Given the description of an element on the screen output the (x, y) to click on. 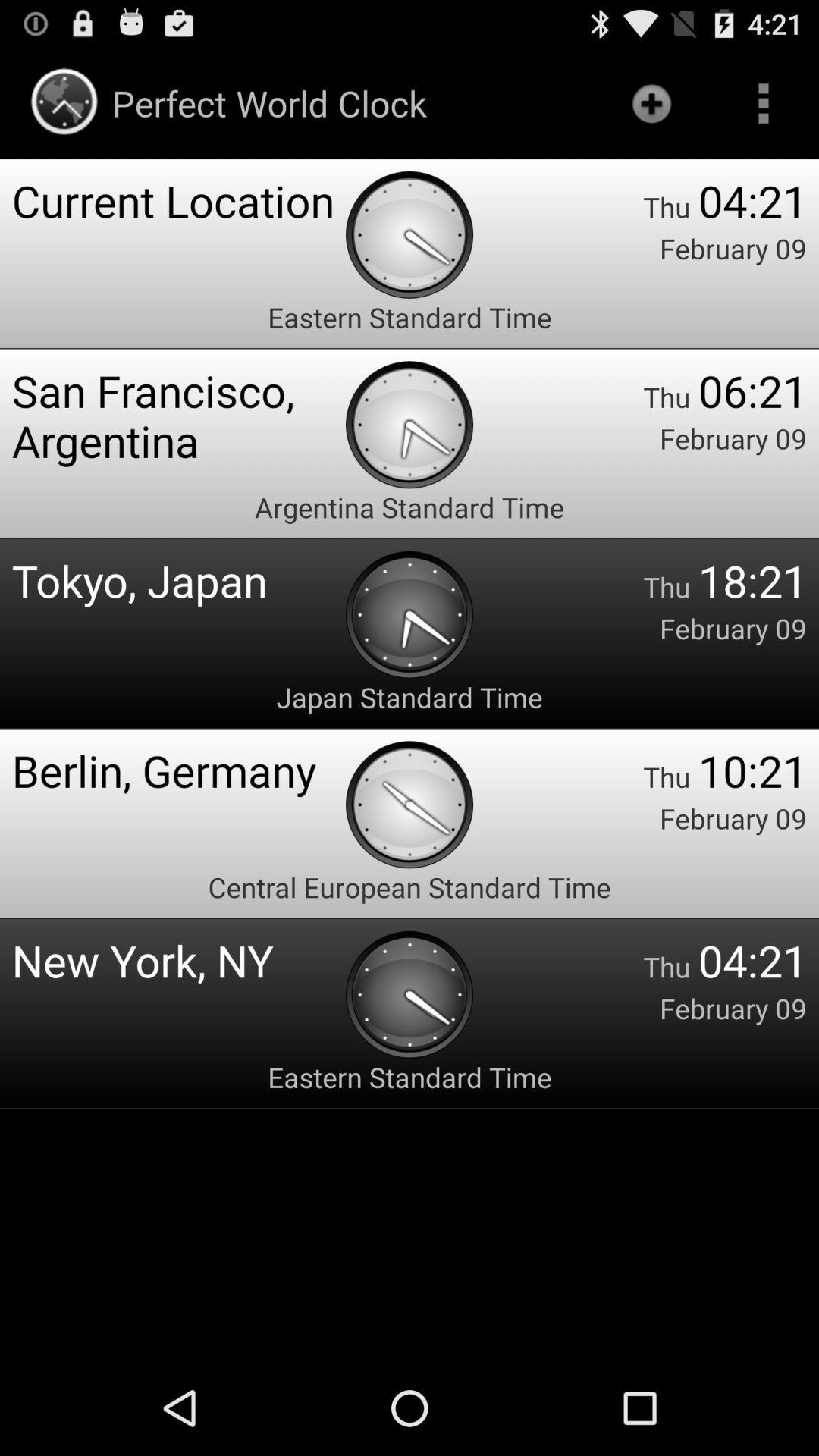
turn off app above the eastern standard time (178, 200)
